Given the description of an element on the screen output the (x, y) to click on. 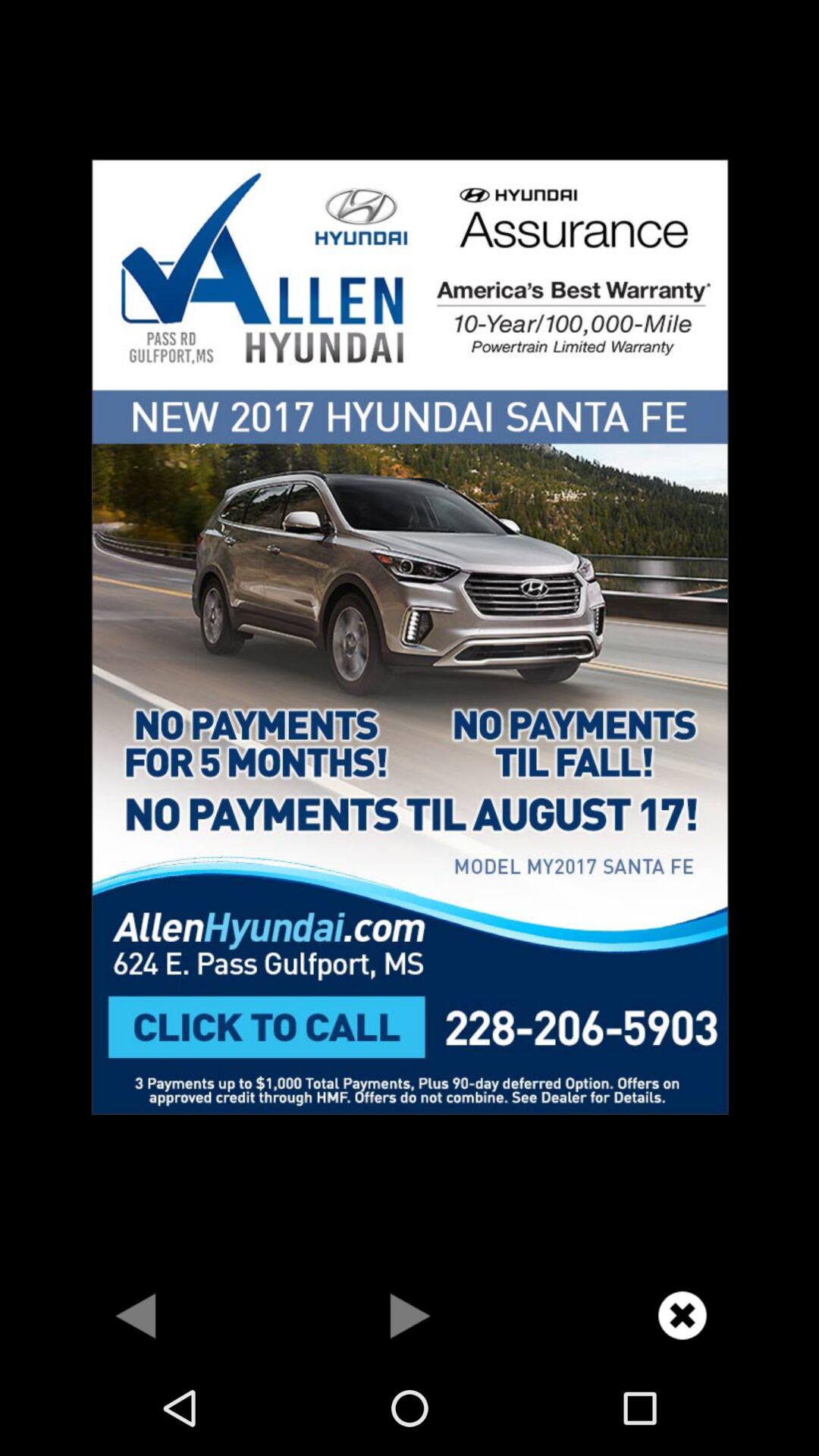
copy text (409, 635)
